Given the description of an element on the screen output the (x, y) to click on. 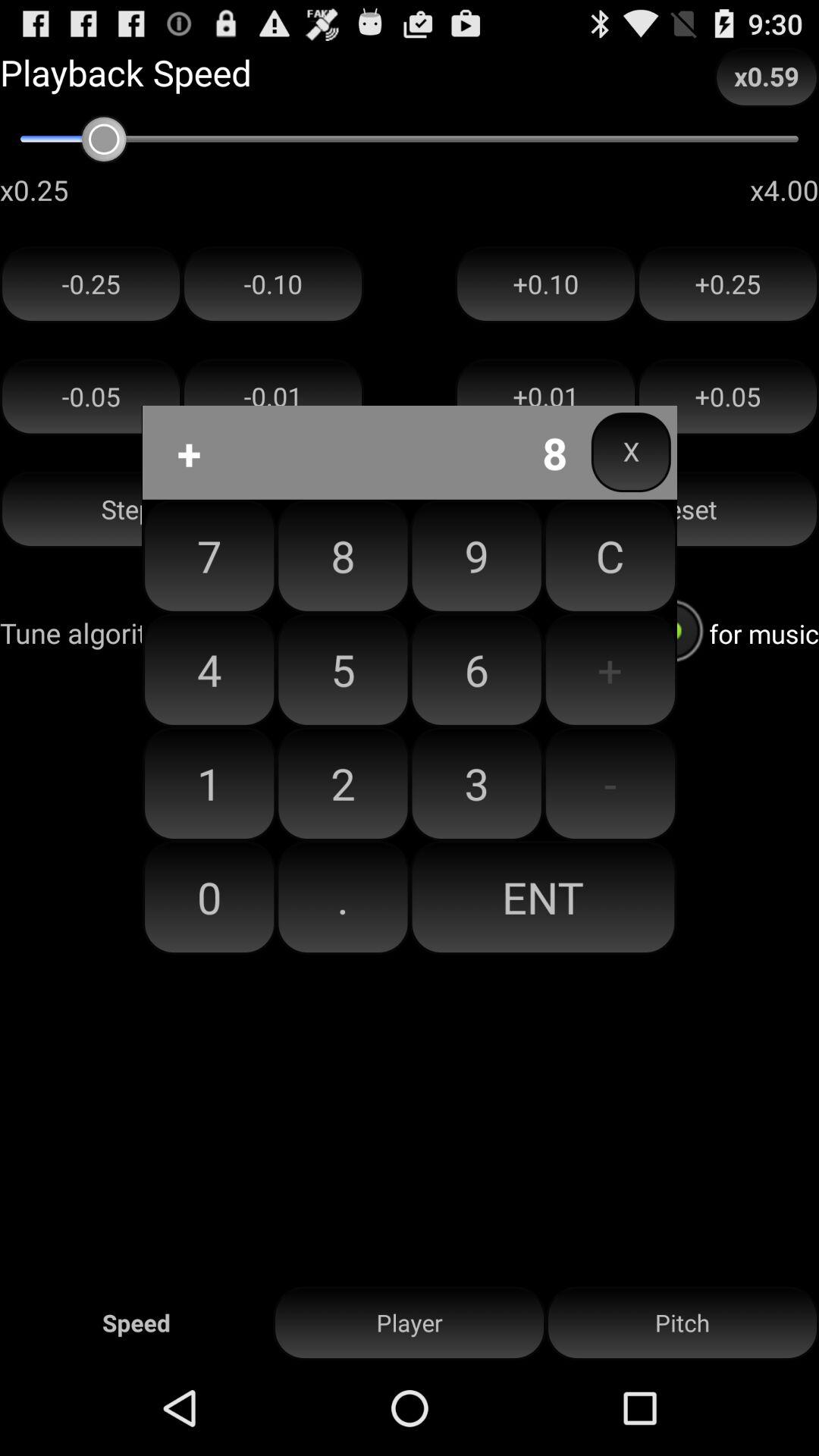
press the item to the left of 8 button (208, 556)
